Given the description of an element on the screen output the (x, y) to click on. 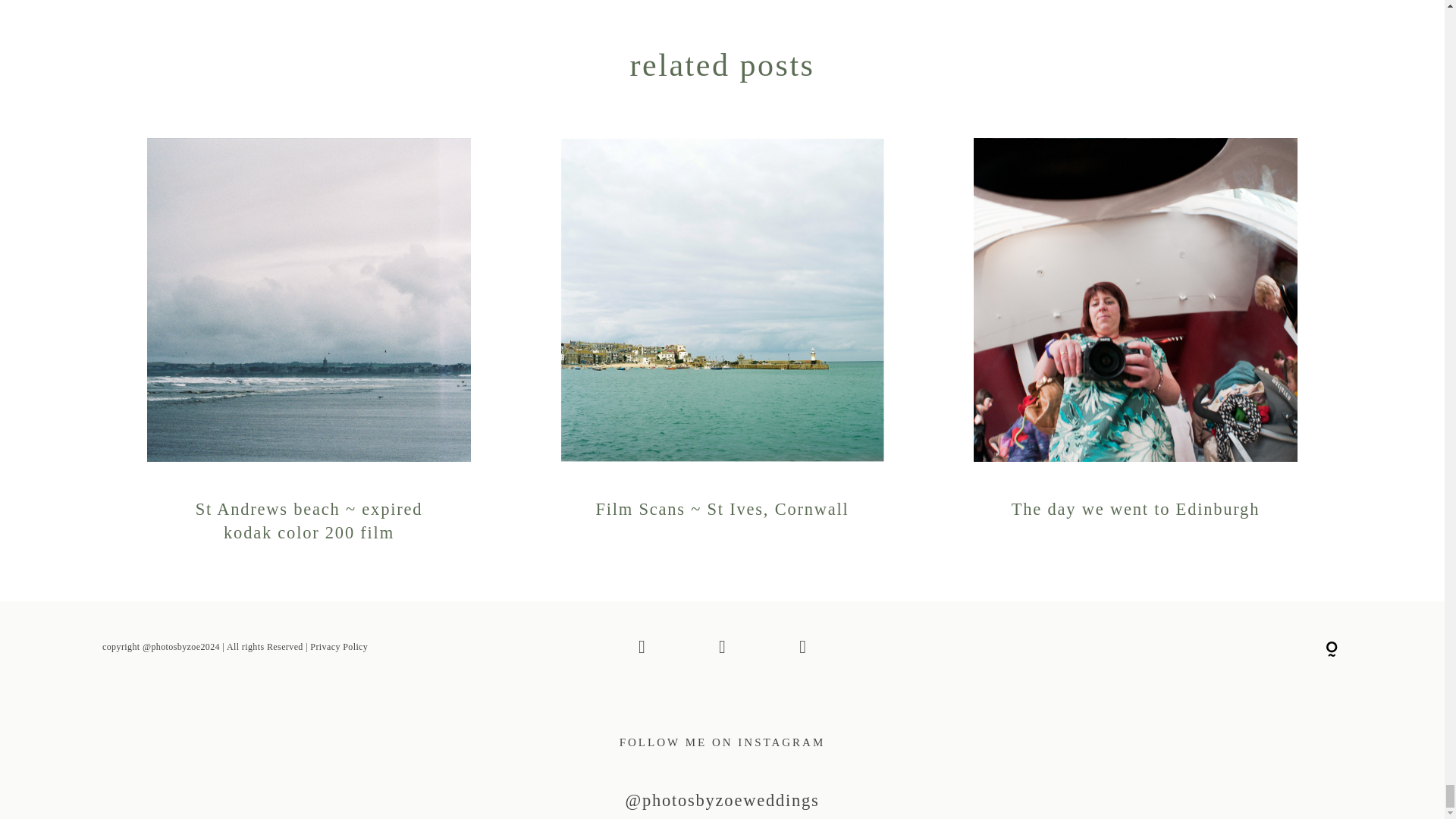
Sorry, your browser does not support inline SVG. (1331, 649)
